Given the description of an element on the screen output the (x, y) to click on. 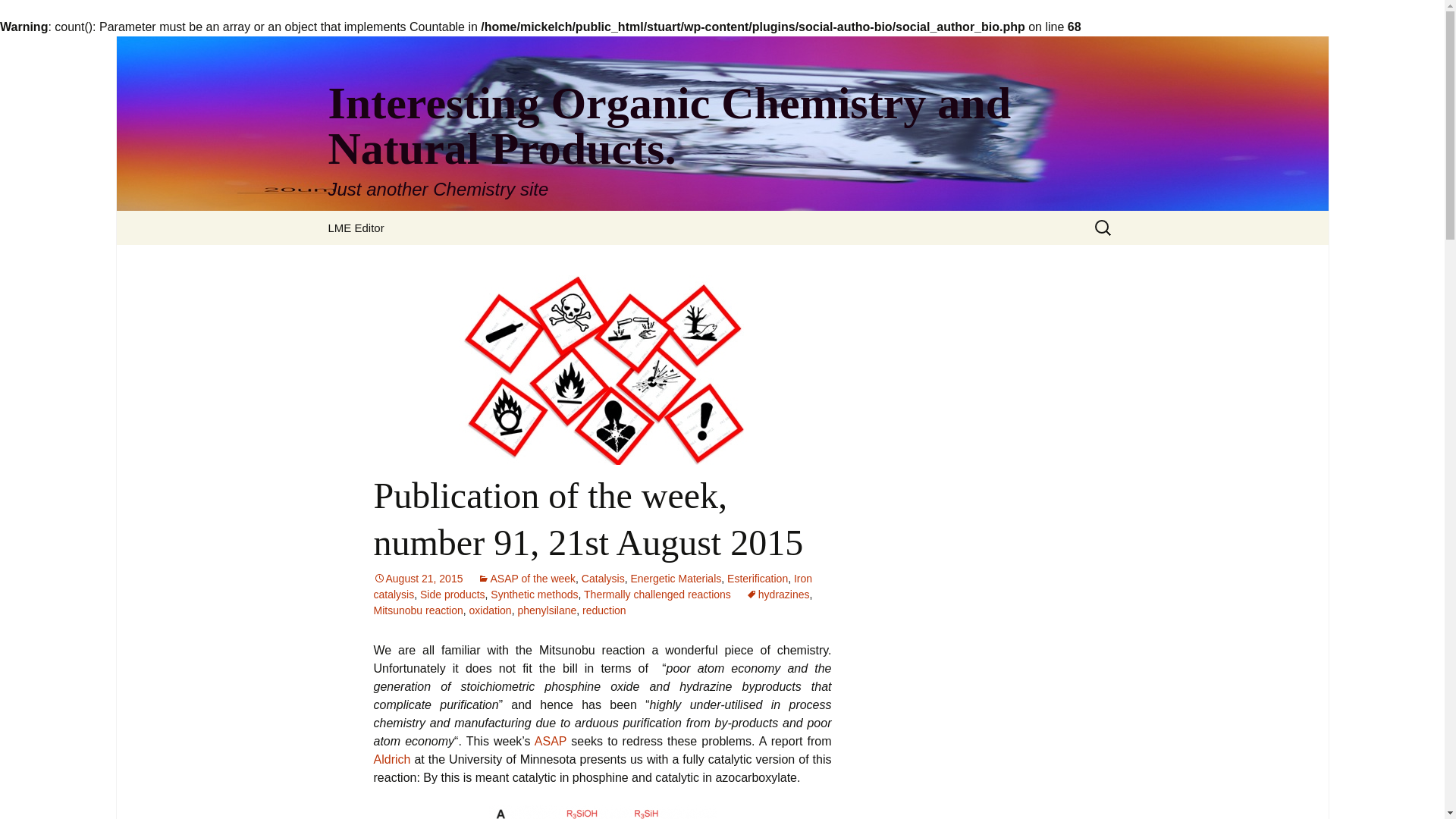
LME Editor (355, 227)
hydrazines (777, 594)
phenylsilane (546, 610)
Energetic Materials (675, 578)
ASAP (550, 740)
August 21, 2015 (417, 578)
Catalysis (602, 578)
Synthetic methods (534, 594)
oxidation (490, 610)
